Given the description of an element on the screen output the (x, y) to click on. 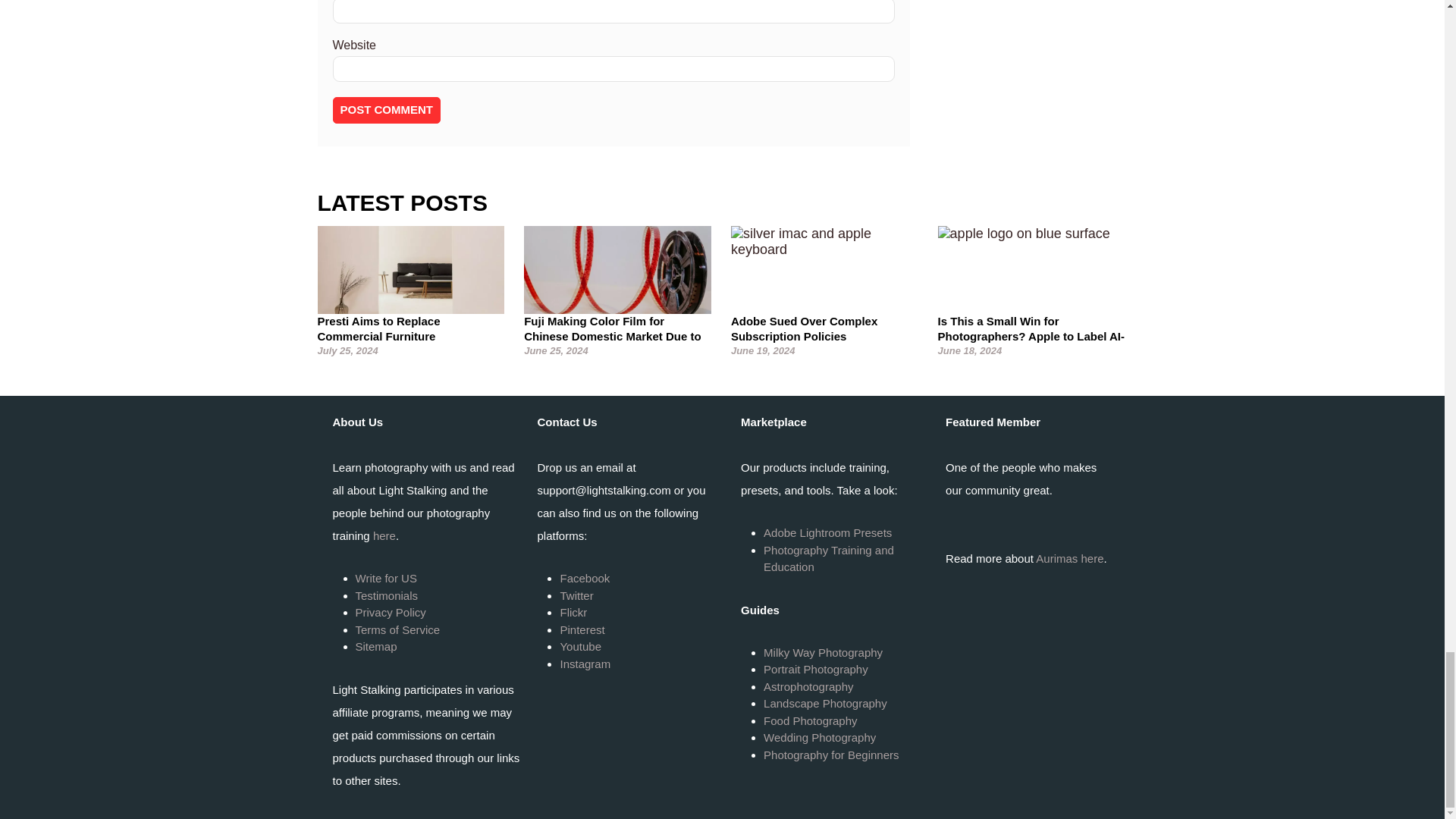
Post Comment (386, 110)
